Given the description of an element on the screen output the (x, y) to click on. 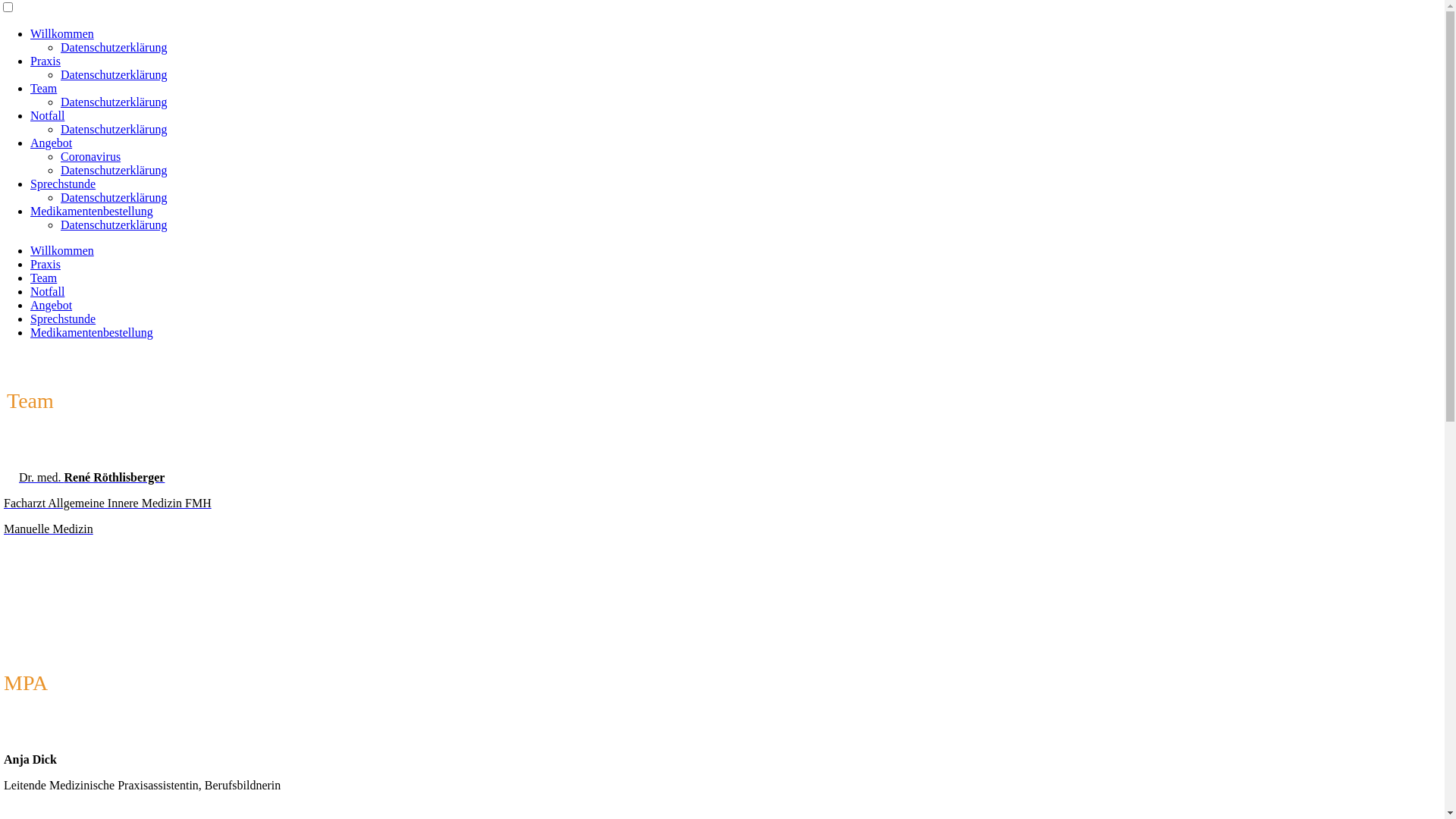
Medikamentenbestellung Element type: text (91, 332)
Coronavirus Element type: text (90, 156)
Notfall Element type: text (47, 291)
Willkommen Element type: text (62, 33)
Praxis Element type: text (45, 263)
Praxis Element type: text (45, 60)
Angebot Element type: text (51, 304)
Willkommen Element type: text (62, 250)
Team Element type: text (43, 87)
Facharzt Allgemeine Innere Medizin FMH Element type: text (107, 502)
Team Element type: text (43, 277)
Sprechstunde Element type: text (62, 183)
Manuelle Medizin Element type: text (48, 528)
Sprechstunde Element type: text (62, 318)
Angebot Element type: text (51, 142)
Notfall Element type: text (47, 115)
Medikamentenbestellung Element type: text (91, 210)
